Given the description of an element on the screen output the (x, y) to click on. 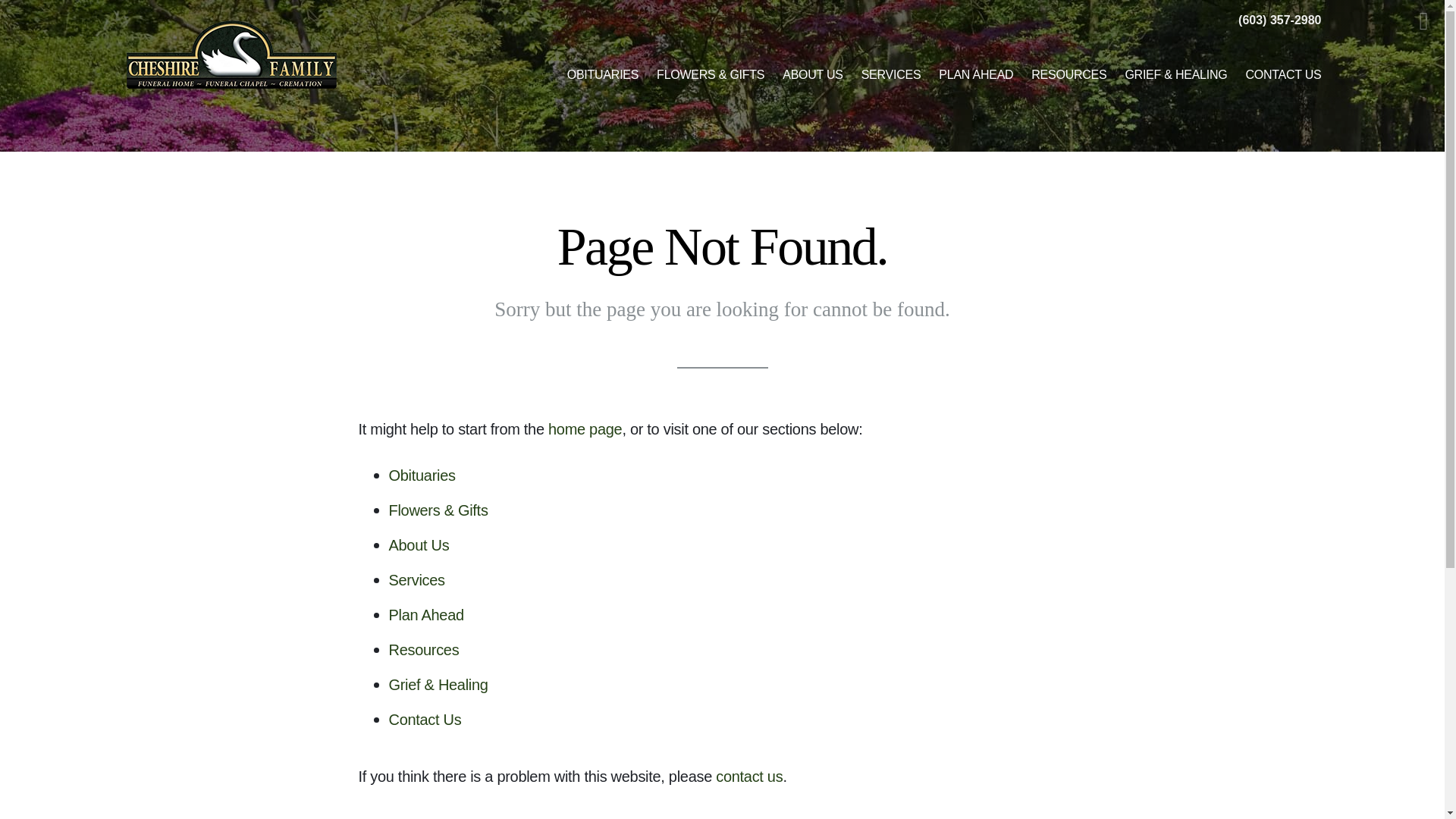
OBITUARIES (602, 74)
Plan Ahead (425, 614)
SERVICES (890, 74)
ABOUT US (812, 74)
RESOURCES (1068, 74)
Obituaries (421, 475)
home page (584, 428)
Contact Us (424, 719)
CONTACT US (1282, 74)
PLAN AHEAD (975, 74)
Skip to content (32, 15)
contact us (749, 776)
About Us (418, 545)
Services (416, 579)
Resources (423, 649)
